Given the description of an element on the screen output the (x, y) to click on. 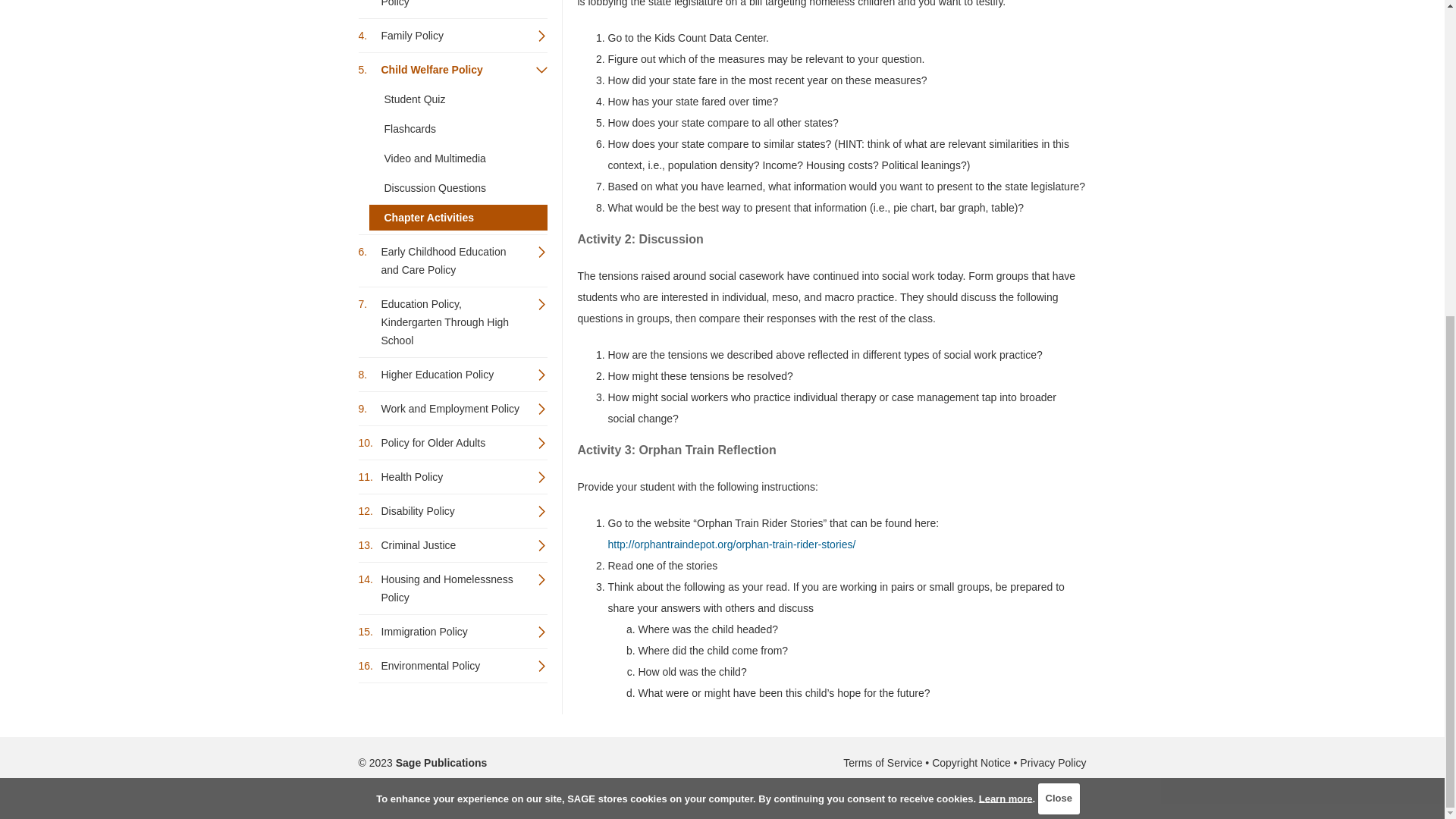
Child Welfare Policy (452, 69)
Practical Theories for Understanding and Analyzing Policy (452, 7)
Learn more (1005, 289)
Family Policy (452, 35)
Student Quiz (457, 99)
